Given the description of an element on the screen output the (x, y) to click on. 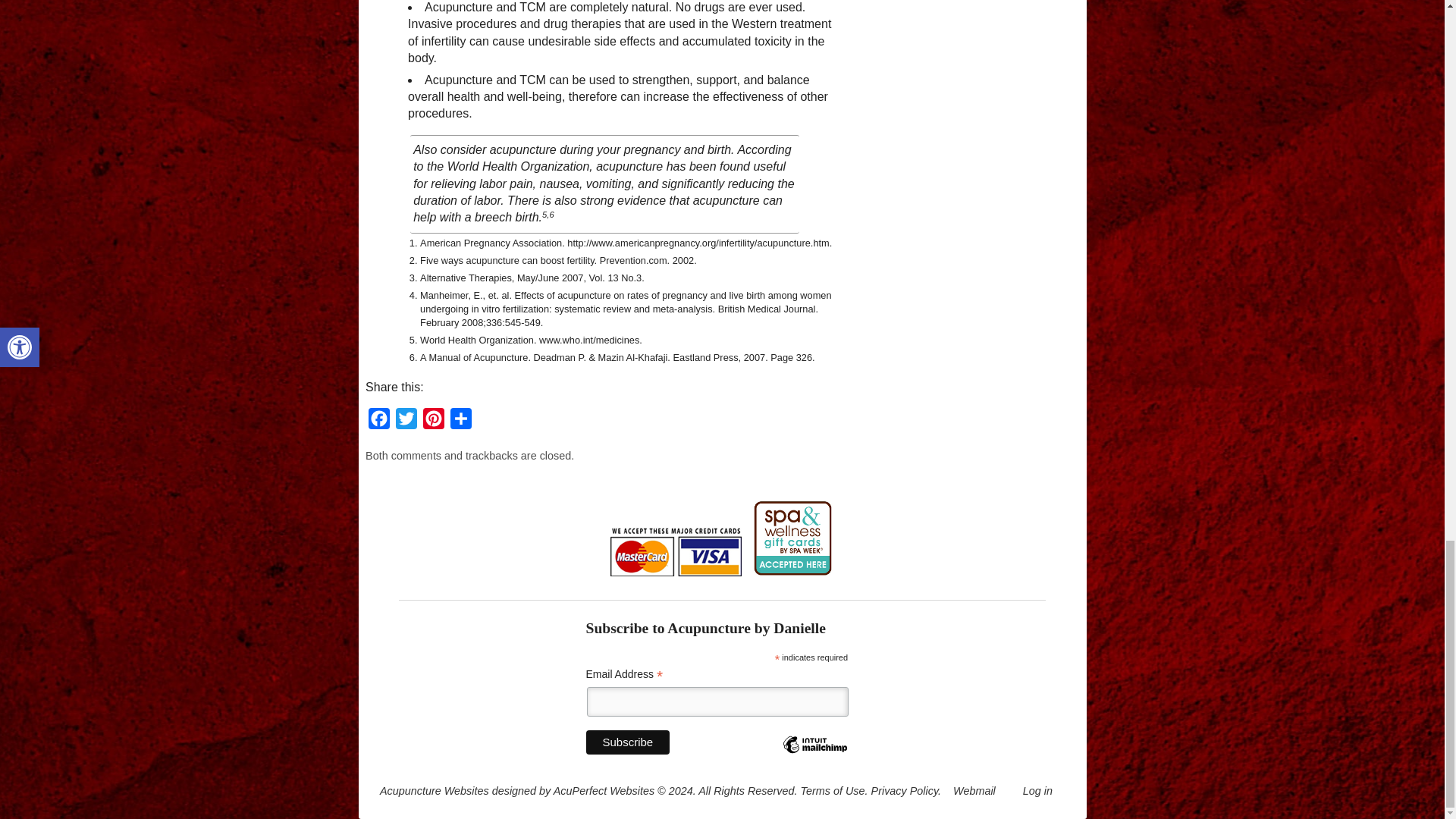
Facebook (379, 421)
Mailchimp - email marketing made easy and fun (815, 757)
Acupuncture Websites (434, 790)
Twitter (406, 421)
Subscribe (627, 742)
Pinterest (433, 421)
